Given the description of an element on the screen output the (x, y) to click on. 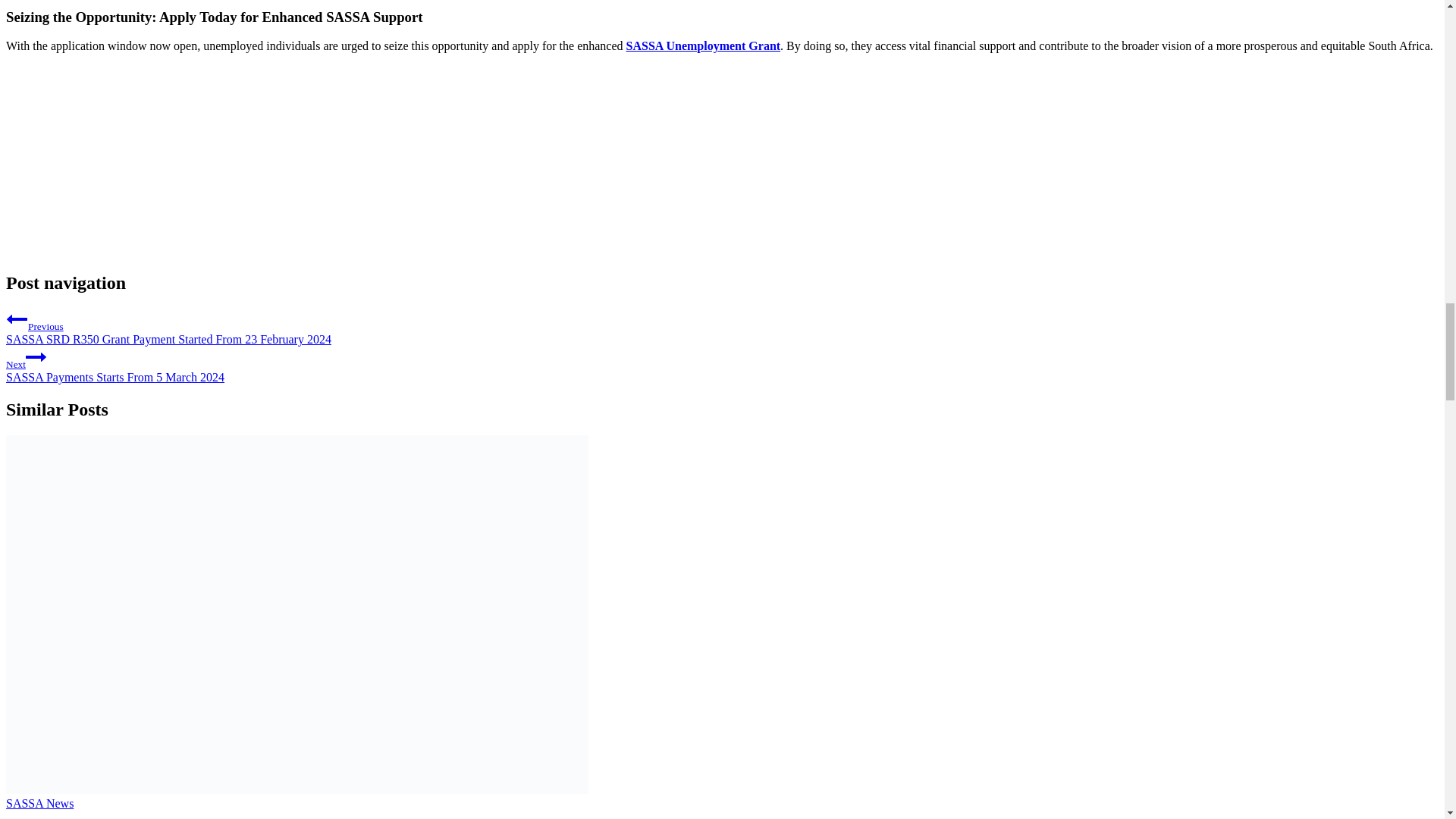
Previous (16, 319)
Continue (36, 356)
